Given the description of an element on the screen output the (x, y) to click on. 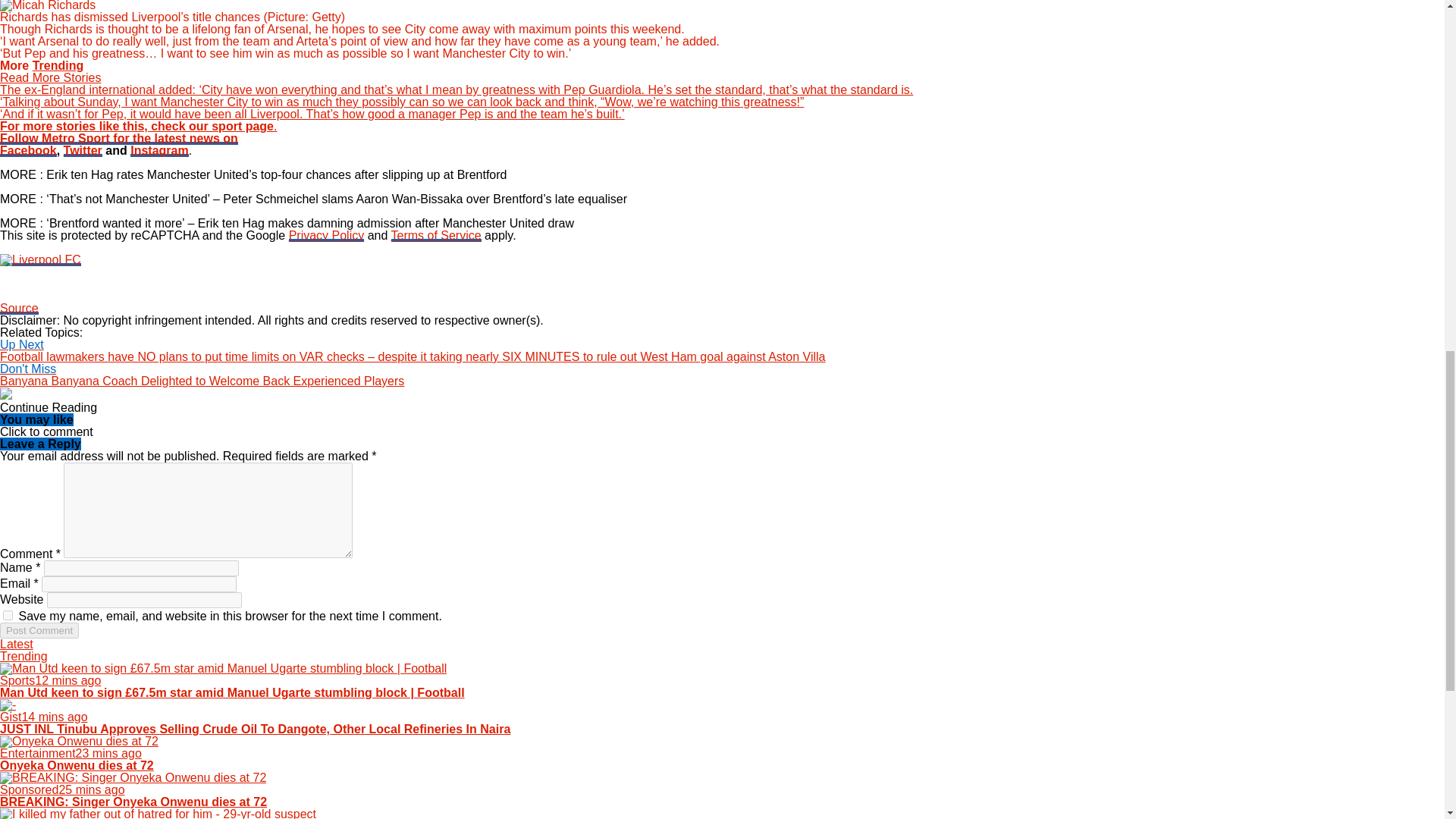
yes (7, 614)
Post Comment (39, 630)
